Given the description of an element on the screen output the (x, y) to click on. 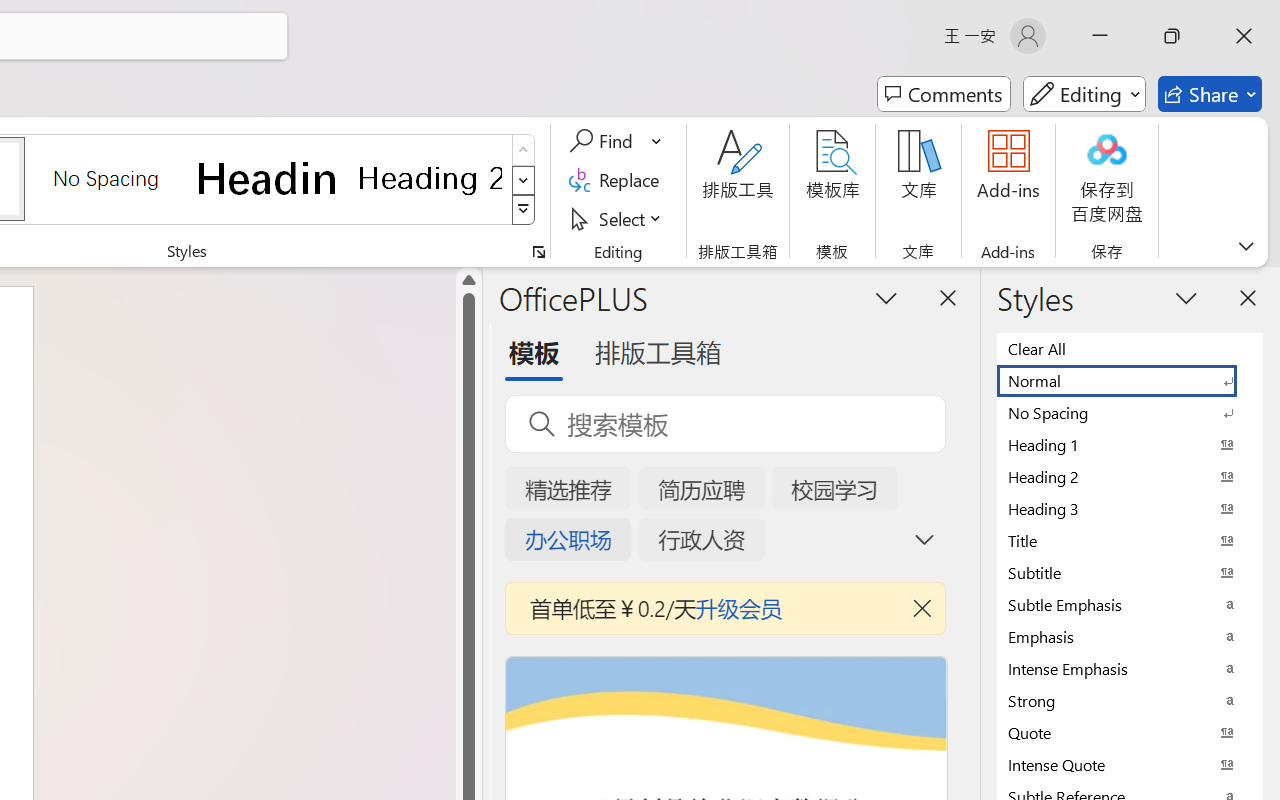
Heading 3 (1130, 508)
Ribbon Display Options (1246, 245)
Comments (943, 94)
Row up (523, 150)
Row Down (523, 180)
Class: NetUIImage (523, 210)
Intense Emphasis (1130, 668)
Subtle Emphasis (1130, 604)
Find (616, 141)
Clear All (1130, 348)
Styles... (538, 252)
